Given the description of an element on the screen output the (x, y) to click on. 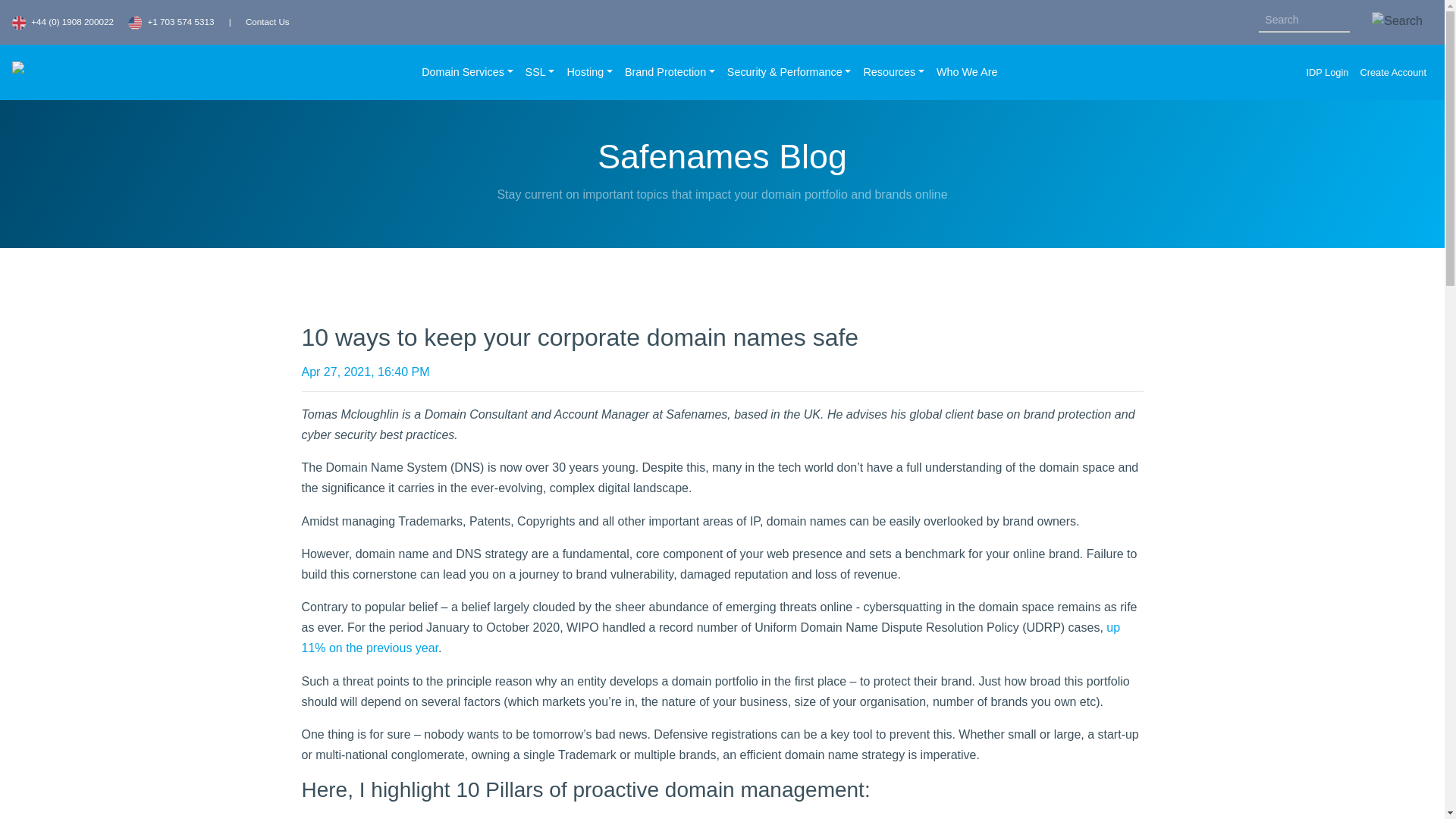
Contact Us (267, 21)
Domain Services (466, 72)
SSL (539, 72)
Search input (1304, 20)
Hosting (588, 72)
